Given the description of an element on the screen output the (x, y) to click on. 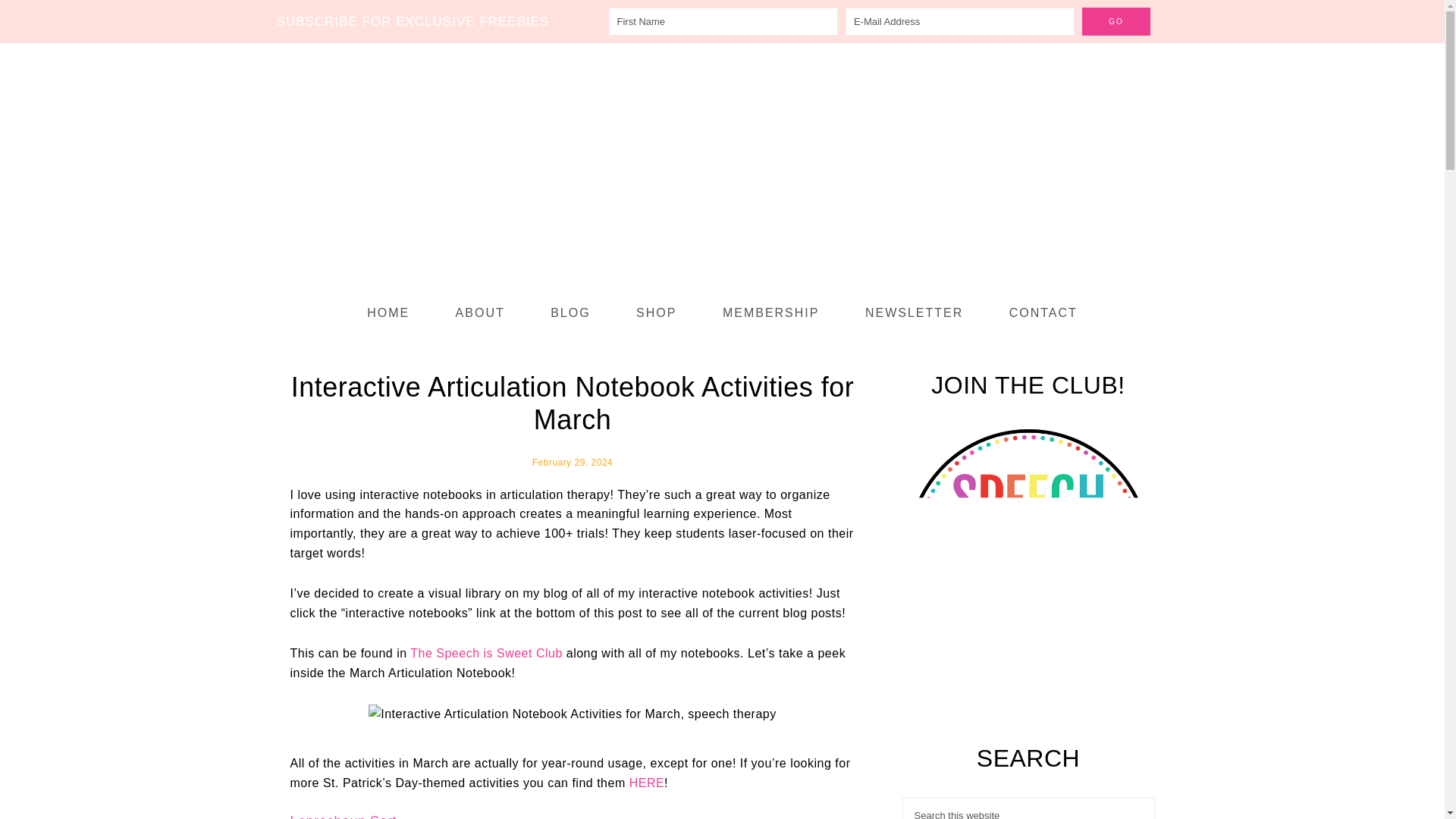
CONTACT (1042, 312)
NEWSLETTER (914, 312)
SHOP (656, 312)
Go (1115, 21)
Go (1115, 21)
MEMBERSHIP (770, 312)
ABOUT (480, 312)
Join the Club! (1028, 672)
BLOG (569, 312)
HERE (645, 782)
HOME (387, 312)
